Given the description of an element on the screen output the (x, y) to click on. 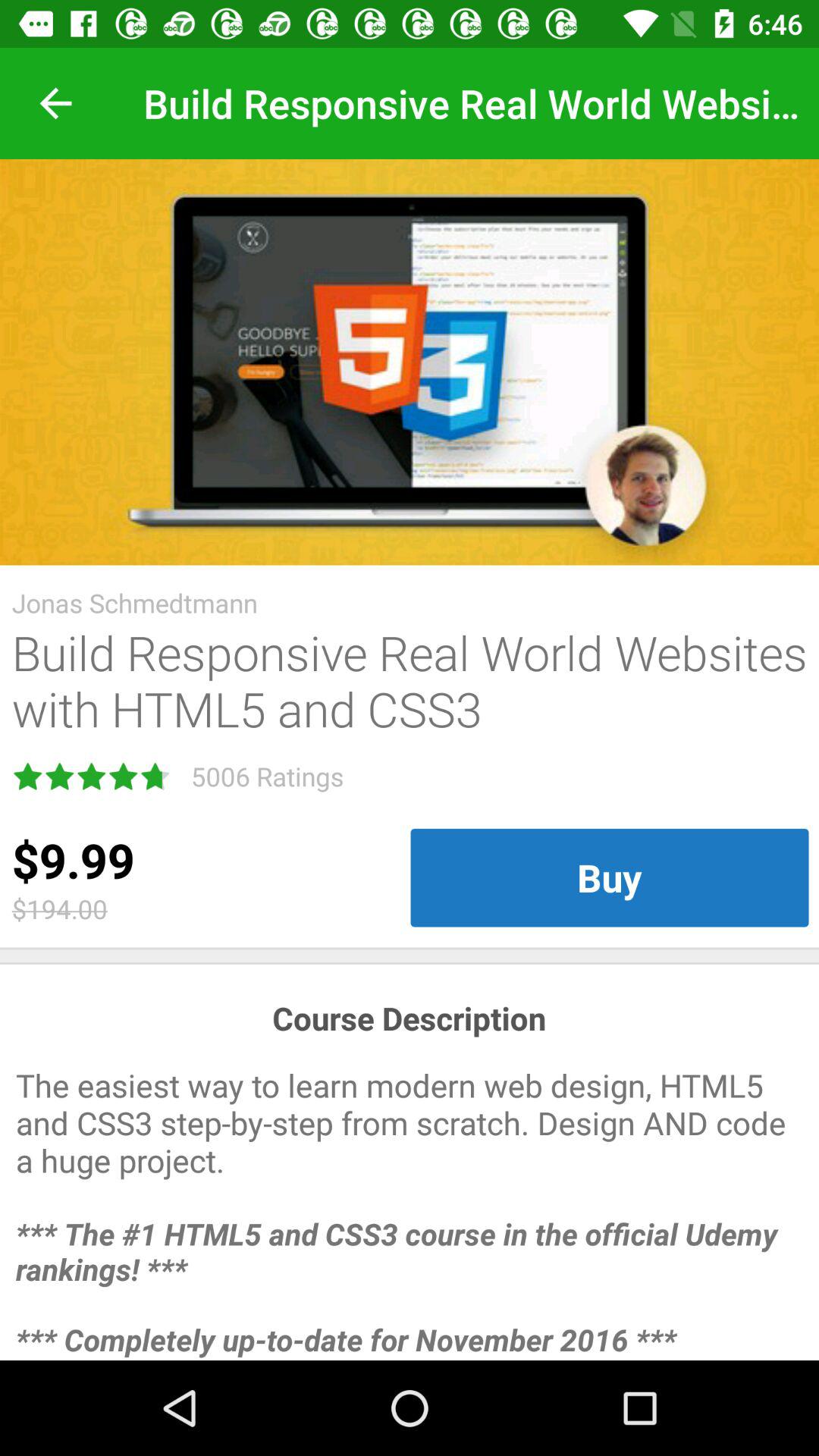
tap the item to the right of the $9.99 (609, 877)
